Given the description of an element on the screen output the (x, y) to click on. 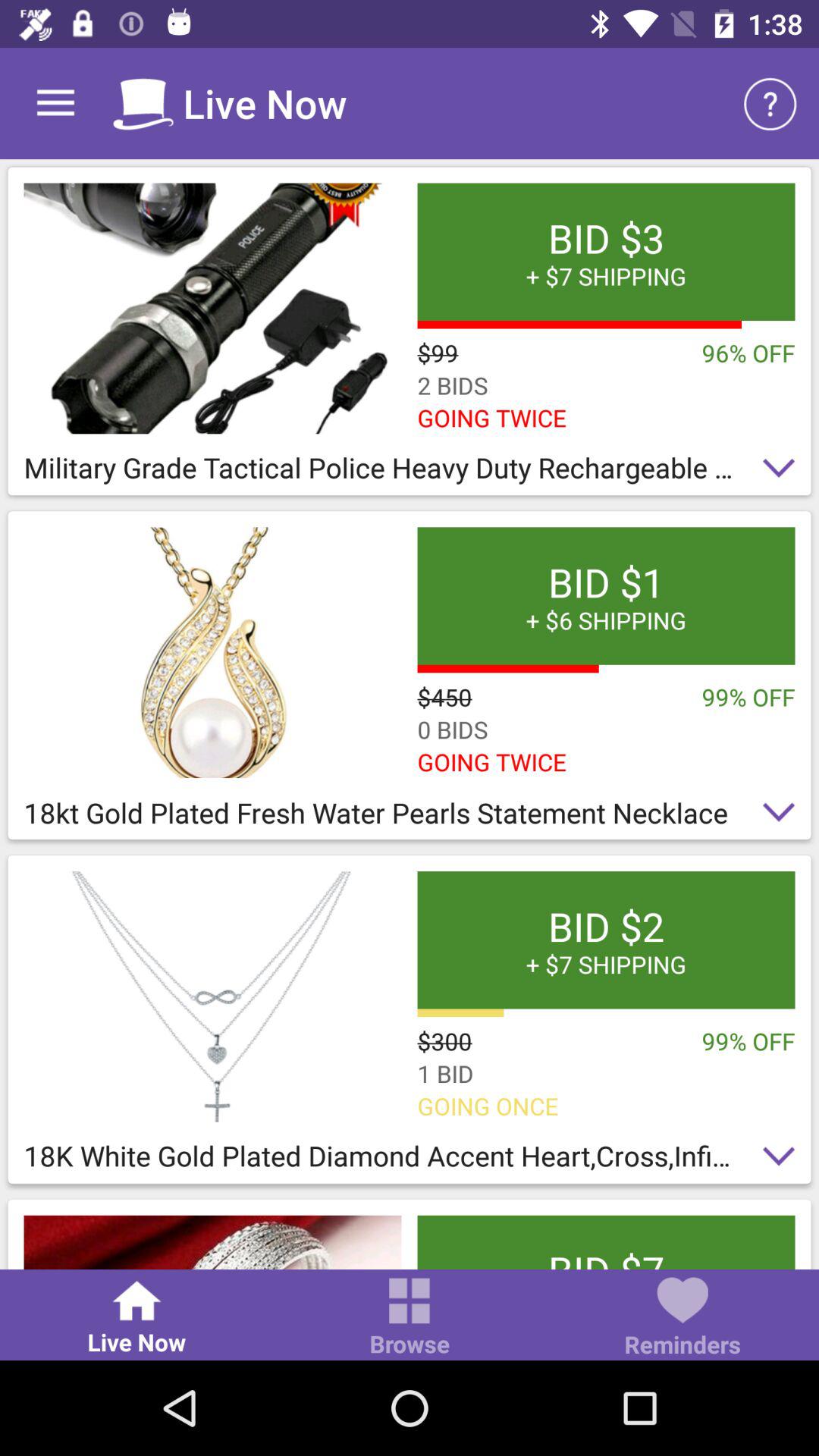
open item below bid 7 free icon (682, 1318)
